Given the description of an element on the screen output the (x, y) to click on. 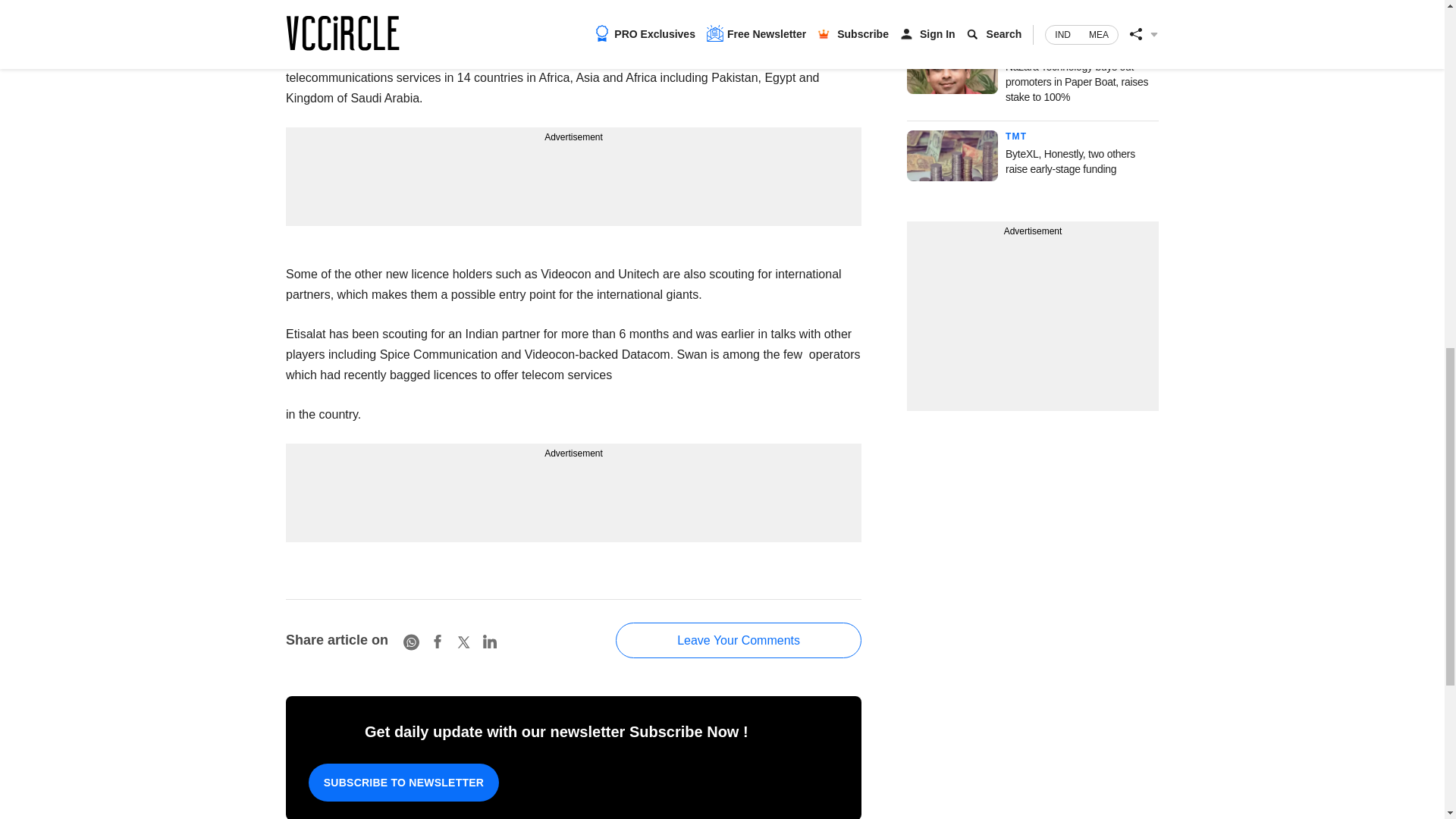
Leave Your Comments (738, 640)
SUBSCRIBE TO NEWSLETTER (403, 782)
